Given the description of an element on the screen output the (x, y) to click on. 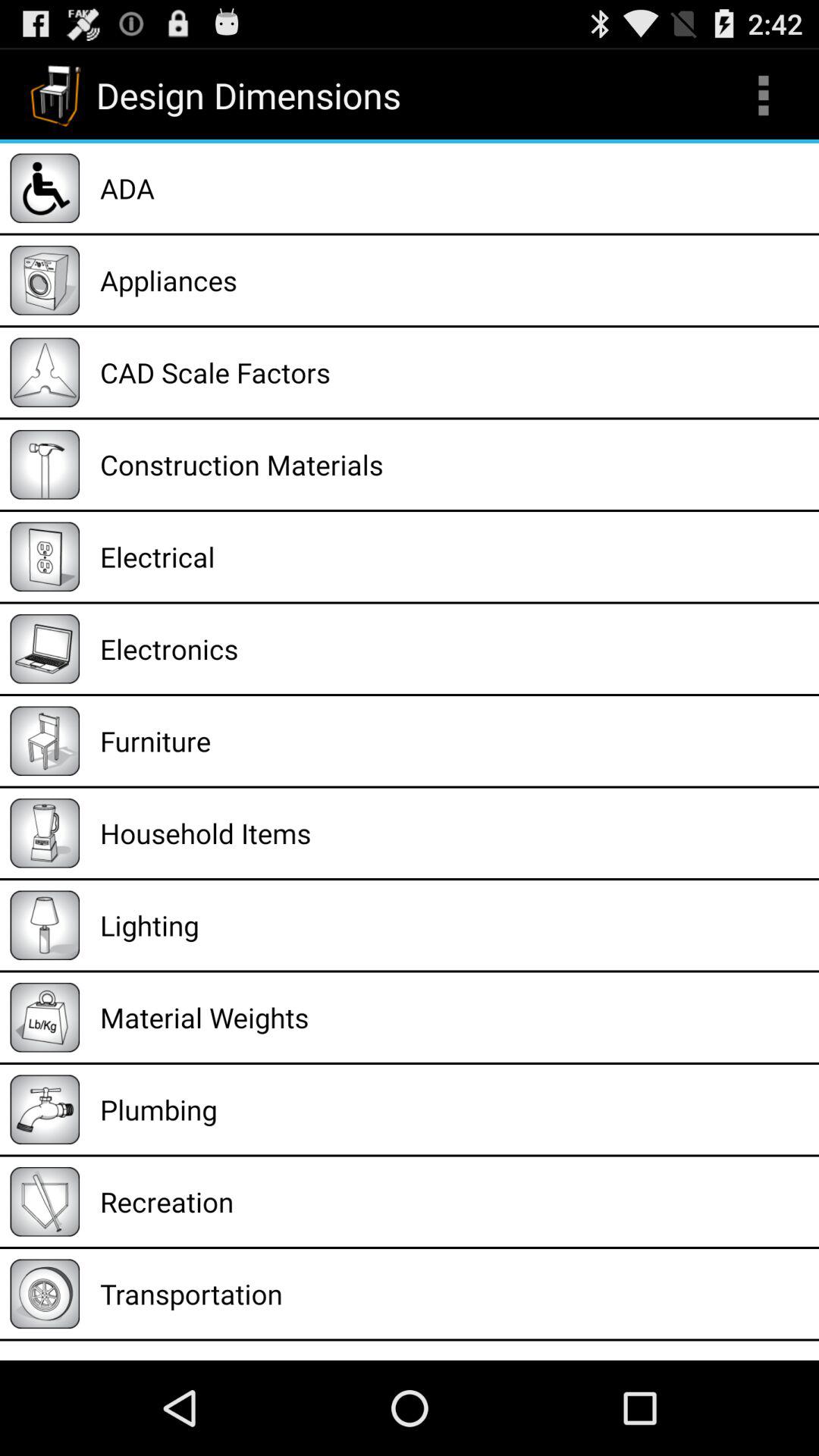
swipe until lighting app (454, 925)
